Given the description of an element on the screen output the (x, y) to click on. 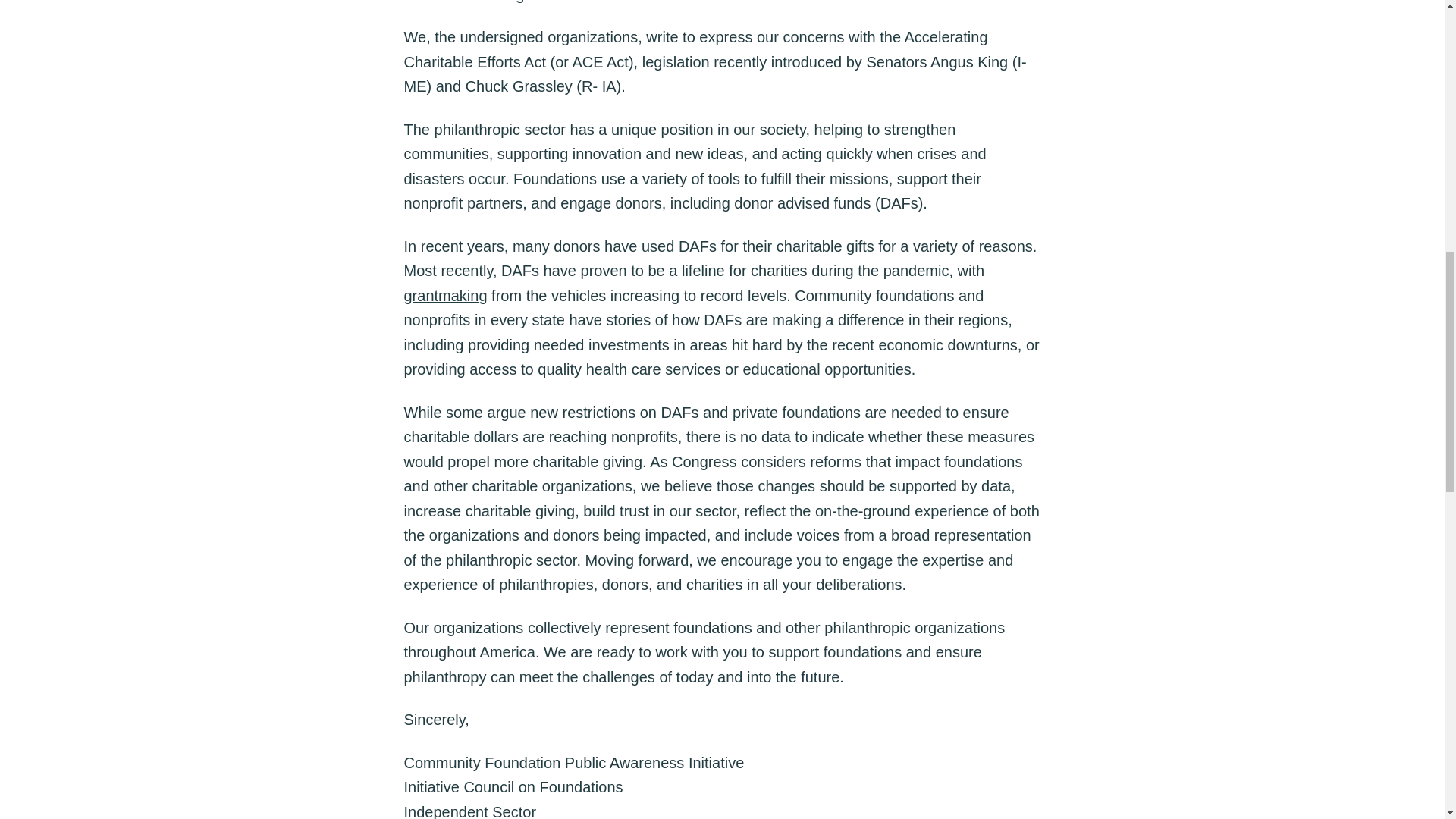
grantmaking (444, 294)
